Given the description of an element on the screen output the (x, y) to click on. 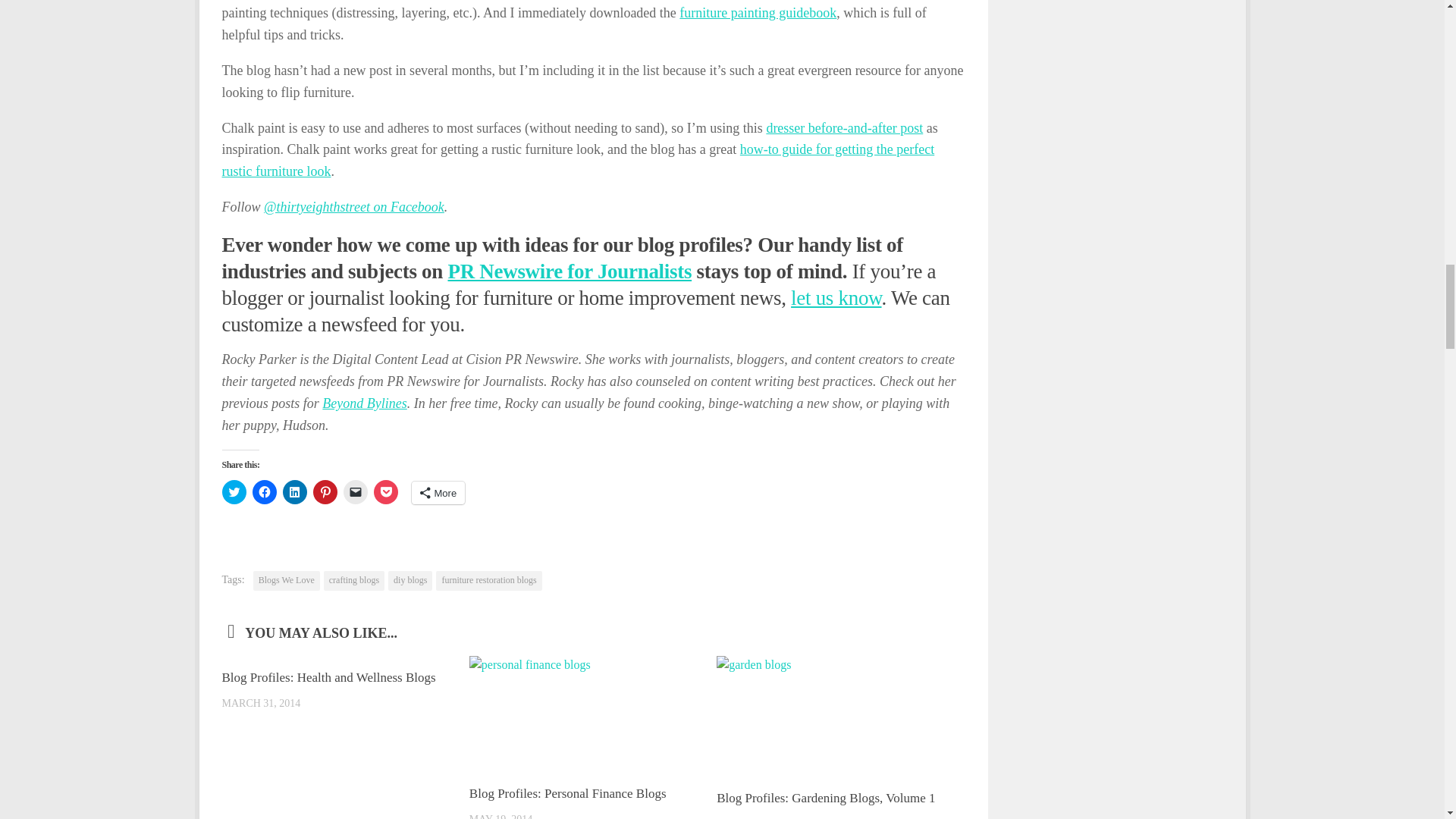
Click to share on Twitter (233, 491)
Click to email a link to a friend (354, 491)
Click to share on LinkedIn (293, 491)
Click to share on Pinterest (324, 491)
Click to share on Facebook (263, 491)
Click to share on Pocket (384, 491)
